Given the description of an element on the screen output the (x, y) to click on. 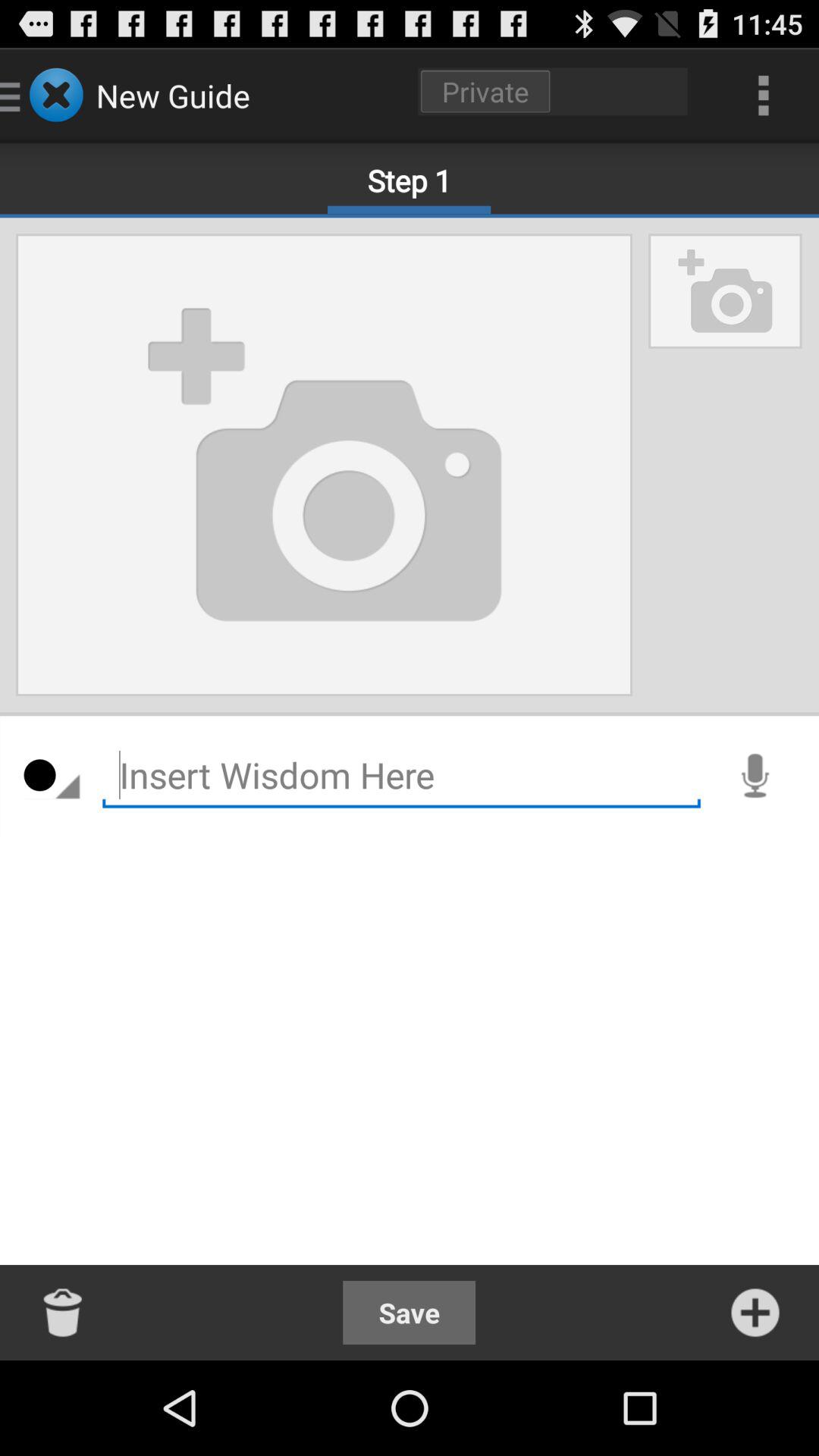
open the item next to the save button (755, 1312)
